Given the description of an element on the screen output the (x, y) to click on. 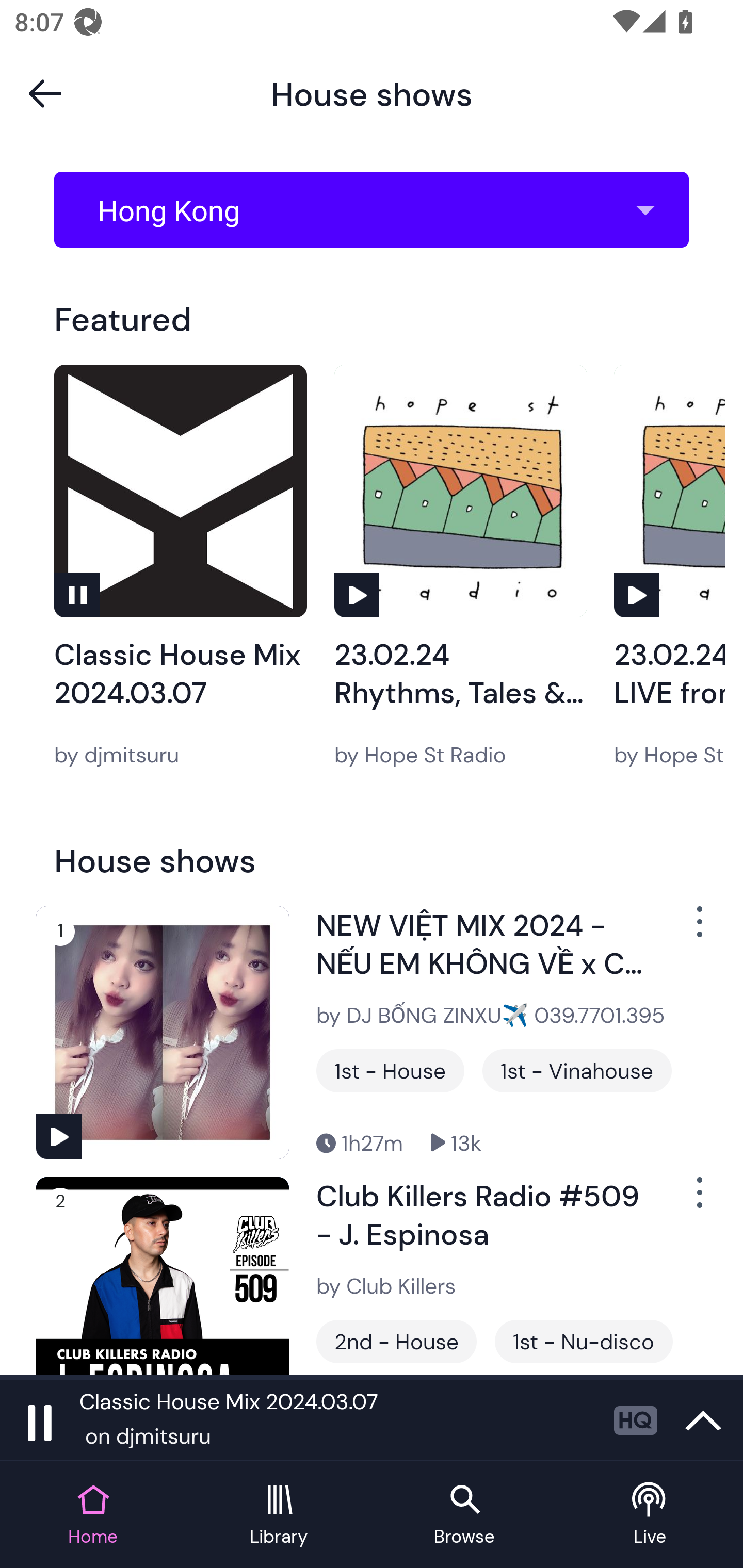
Hong Kong (378, 209)
Show Options Menu Button (697, 929)
1st - House (390, 1070)
1st - Vinahouse (576, 1070)
Show Options Menu Button (697, 1200)
2nd - House (396, 1341)
1st - Nu-disco (583, 1341)
Home tab Home (92, 1515)
Library tab Library (278, 1515)
Browse tab Browse (464, 1515)
Live tab Live (650, 1515)
